Given the description of an element on the screen output the (x, y) to click on. 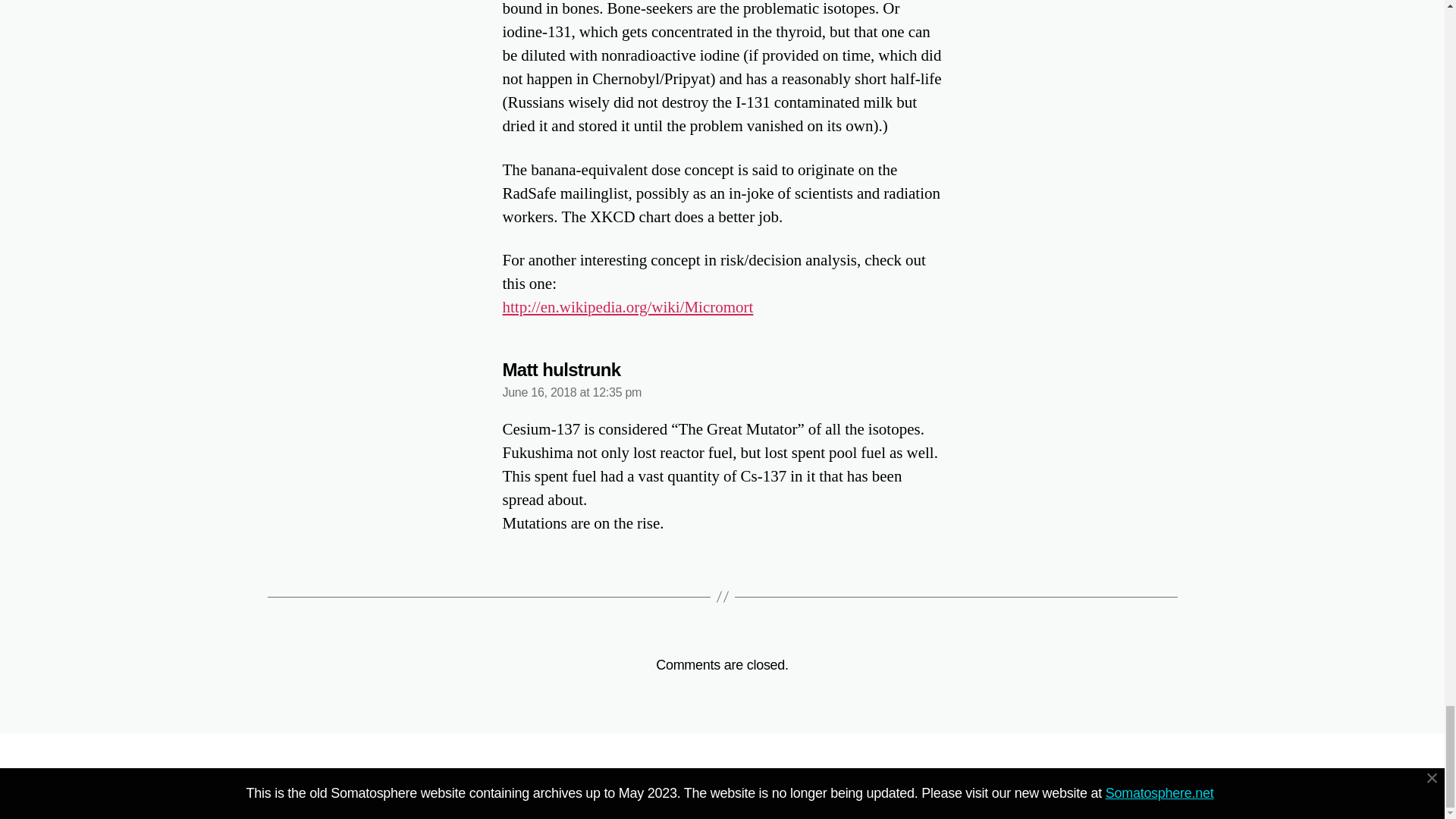
June 16, 2018 at 12:35 pm (572, 391)
